Given the description of an element on the screen output the (x, y) to click on. 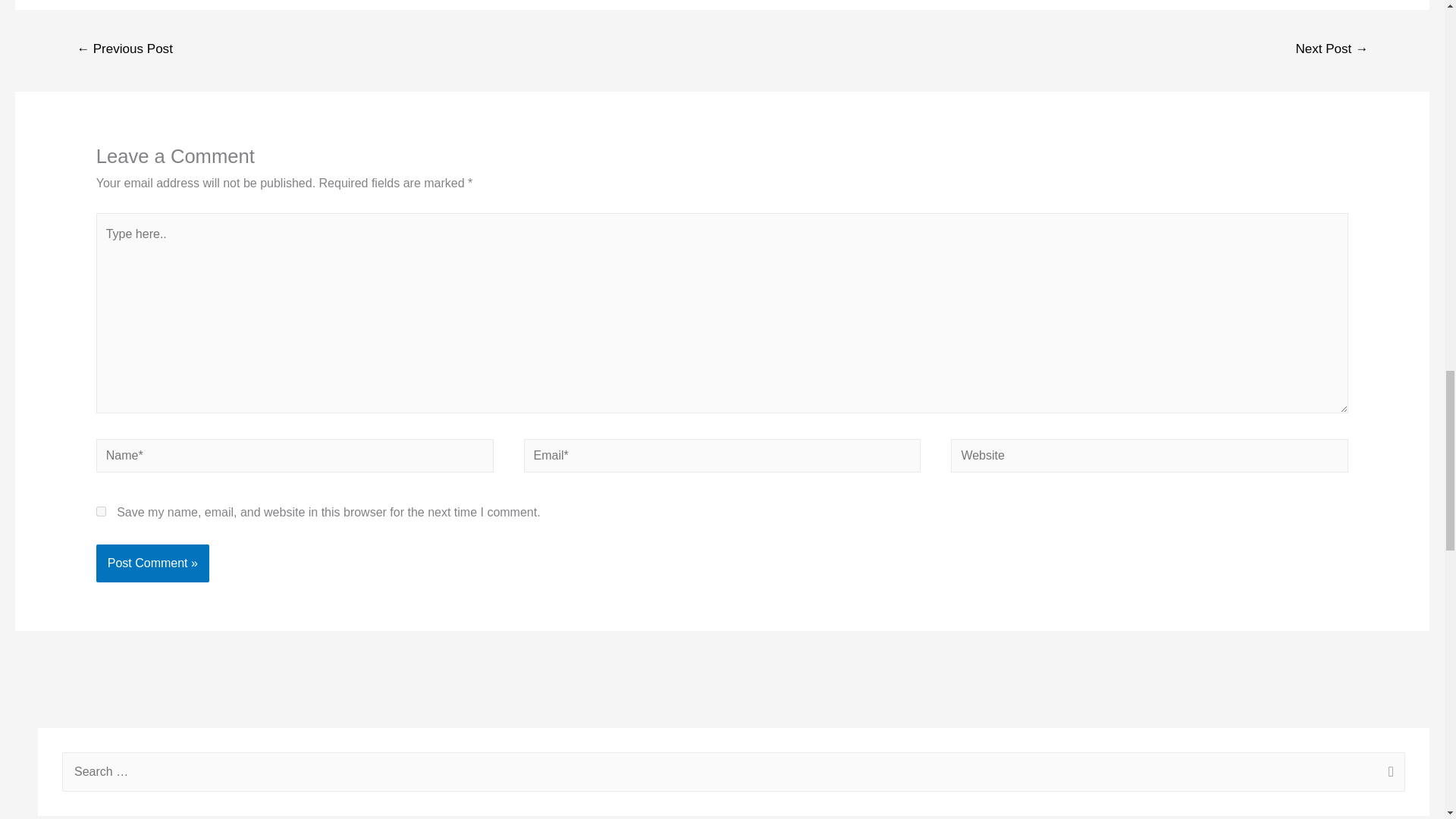
Search (1388, 773)
Search (1388, 773)
yes (101, 511)
Search (1388, 773)
